Given the description of an element on the screen output the (x, y) to click on. 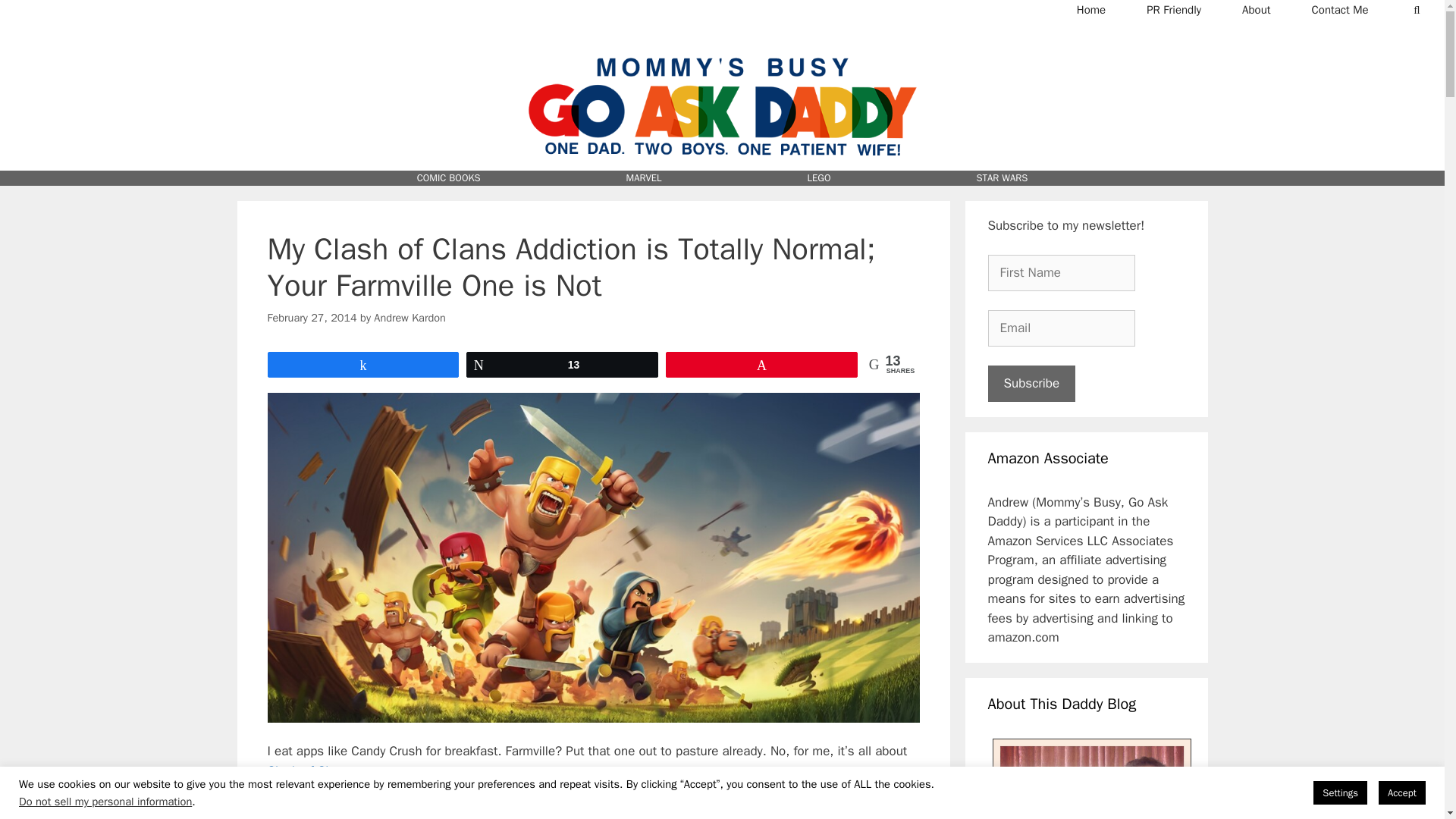
PR Friendly (1173, 9)
13 (562, 363)
About (1255, 9)
Home (1091, 9)
COMIC BOOKS (448, 177)
Contact Me (1340, 9)
LEGO (819, 177)
Andrew Kardon (409, 317)
MommysBusy.com (722, 44)
View all posts by Andrew Kardon (409, 317)
STAR WARS (1002, 177)
Clash of Clans (307, 770)
MARVEL (644, 177)
